Given the description of an element on the screen output the (x, y) to click on. 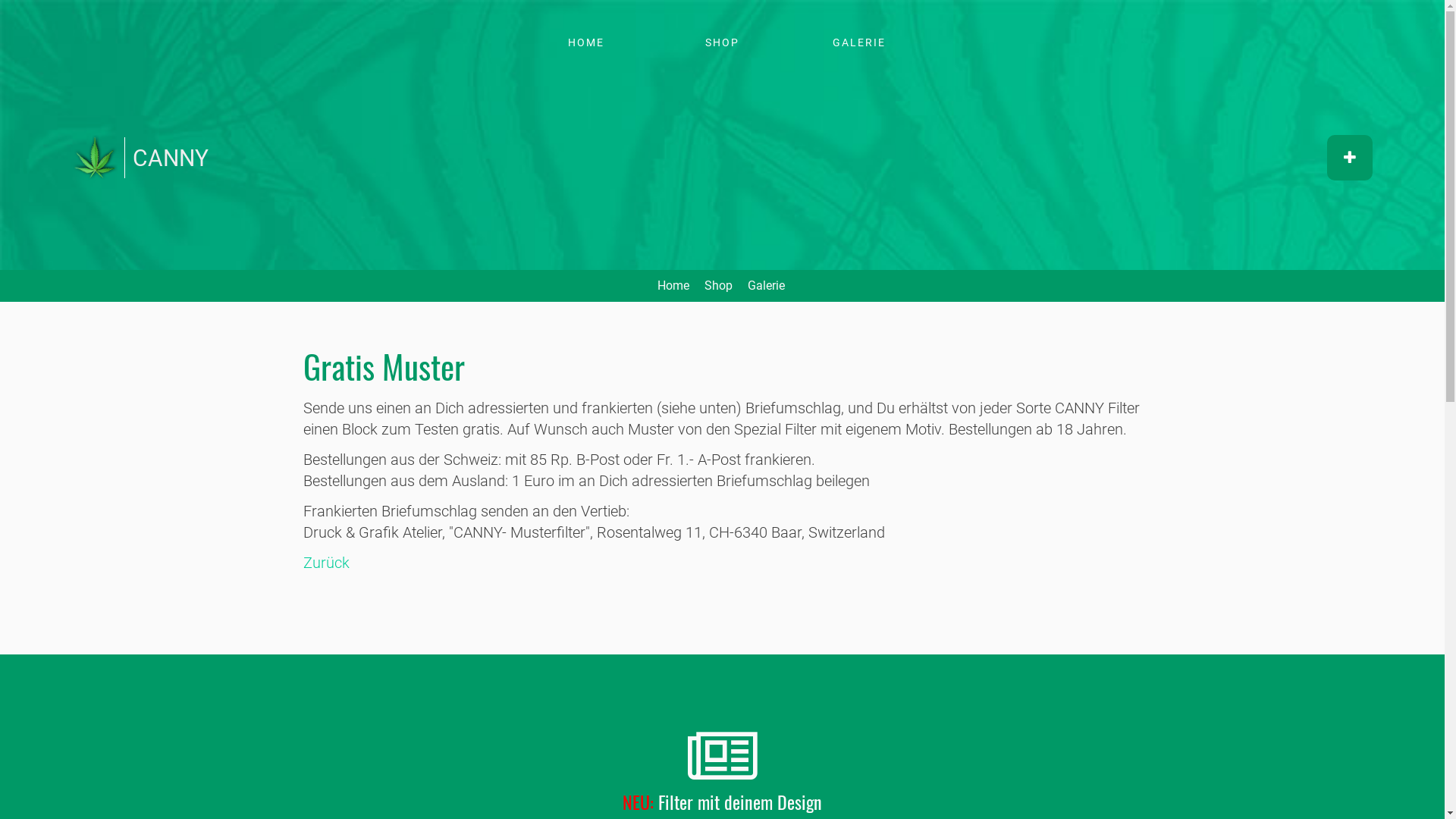
Shop Element type: text (717, 285)
Home Element type: hover (94, 165)
Galerie  Element type: text (767, 285)
GALERIE Element type: text (858, 42)
SHOP Element type: text (721, 42)
Filter mit deinem Design Element type: text (740, 801)
News Element type: hover (721, 757)
HOME Element type: text (585, 42)
Home Element type: text (672, 285)
